Given the description of an element on the screen output the (x, y) to click on. 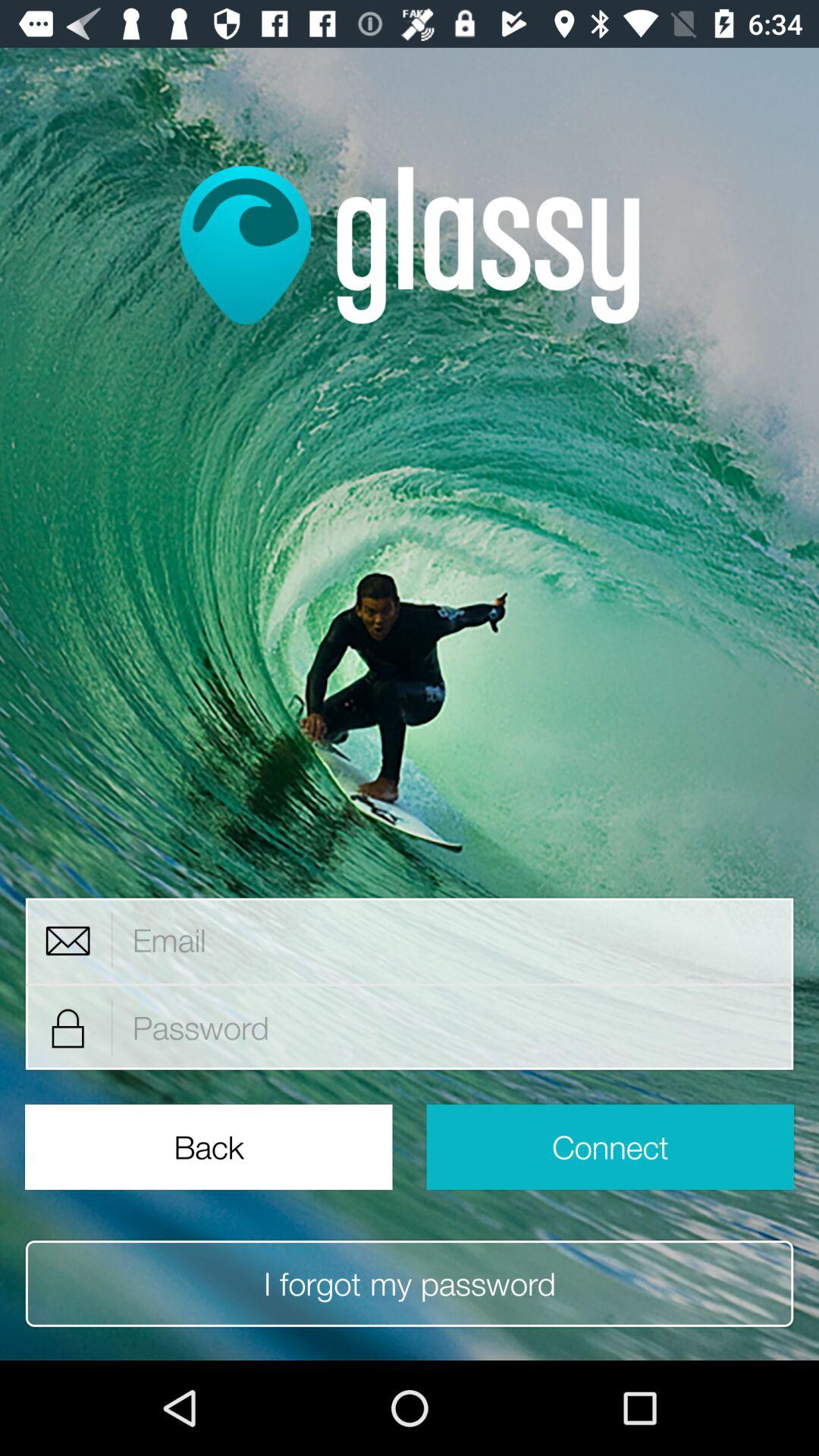
launch connect at the bottom right corner (609, 1146)
